Given the description of an element on the screen output the (x, y) to click on. 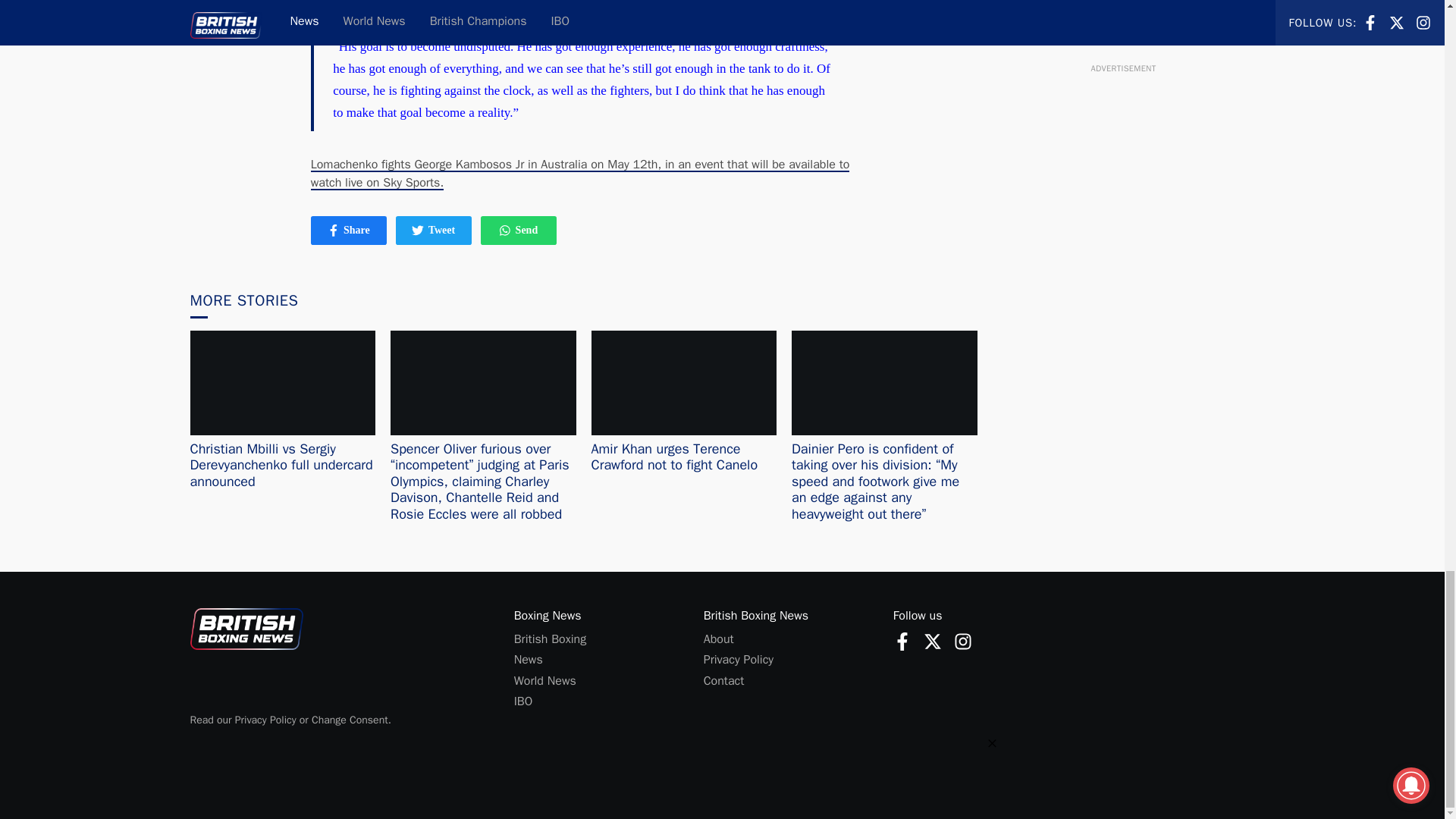
Twitter (417, 230)
IBO (522, 701)
Change Consent (349, 719)
he told Pro Box TV. (662, 2)
About (718, 639)
Instagram (902, 640)
Facebook (433, 229)
